Given the description of an element on the screen output the (x, y) to click on. 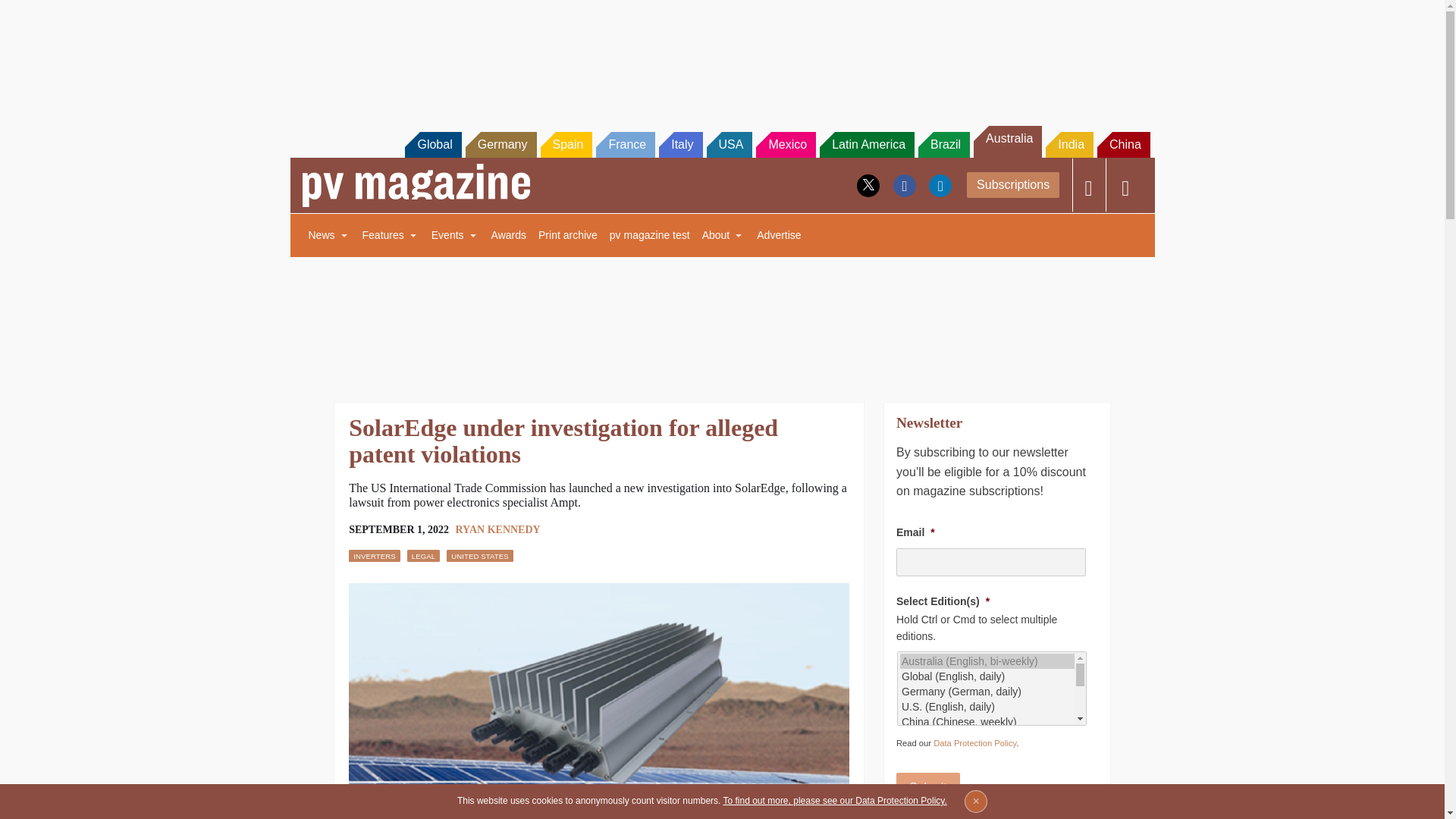
Latin America (866, 144)
Spain (566, 144)
China (1123, 144)
Submit (927, 788)
Global (432, 144)
Australia (1008, 142)
Posts by Ryan Kennedy (497, 529)
USA (729, 144)
Brazil (943, 144)
pv magazine - Photovoltaics Markets and Technology (415, 185)
3rd party ad content (721, 320)
3rd party ad content (721, 51)
Thursday, September 1, 2022, 7:22 am (398, 529)
Mexico (785, 144)
Subscriptions (1012, 184)
